Given the description of an element on the screen output the (x, y) to click on. 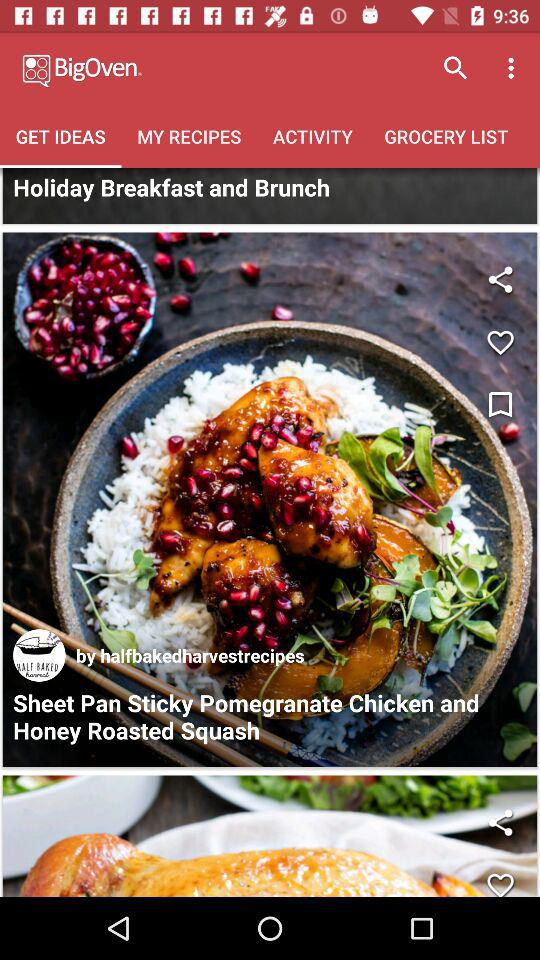
add recipe to list (500, 342)
